Given the description of an element on the screen output the (x, y) to click on. 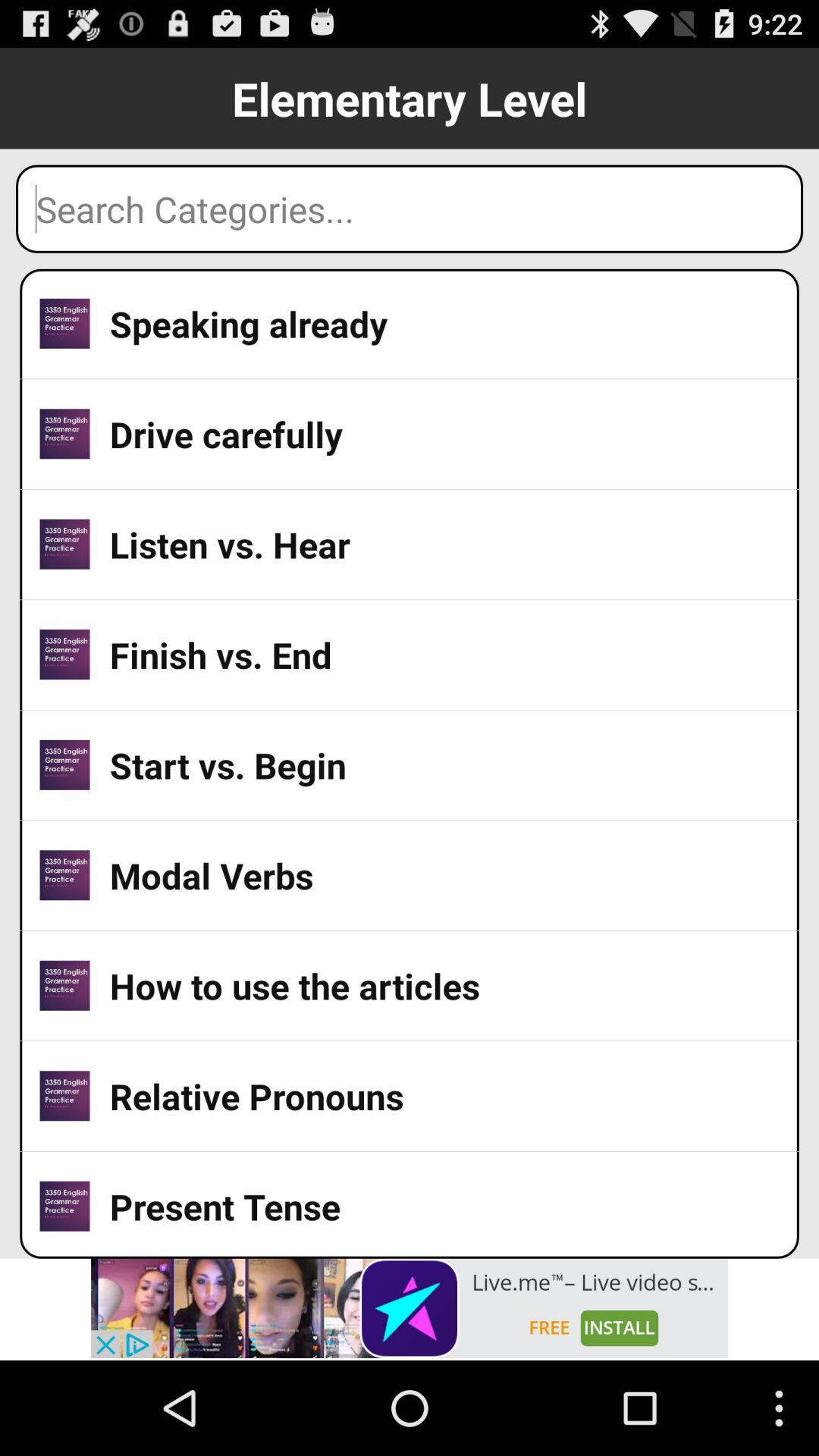
go to advertisement (409, 1308)
